Given the description of an element on the screen output the (x, y) to click on. 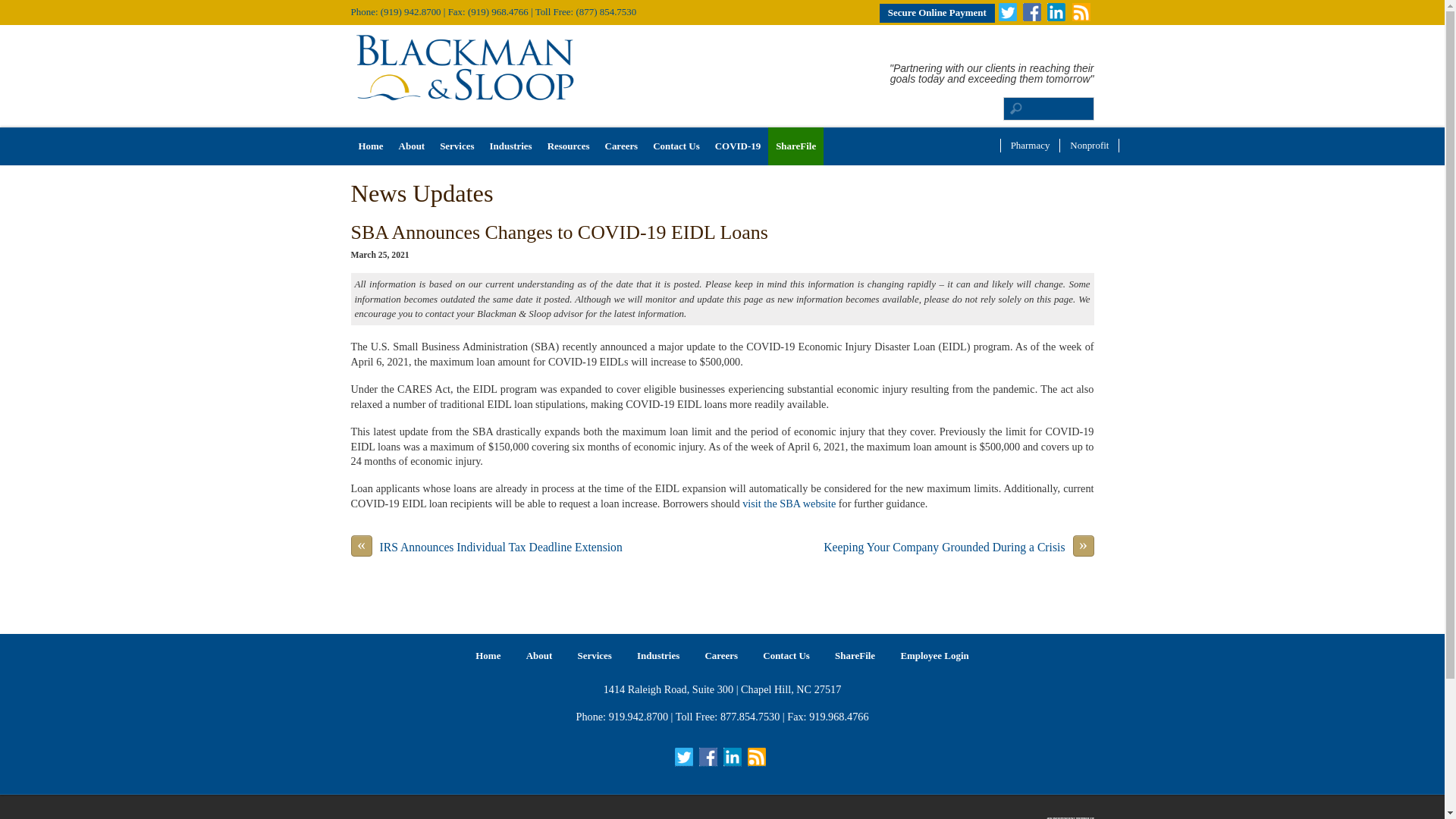
About (411, 146)
Secure Online Payment (936, 13)
Services (456, 146)
Resources (568, 146)
Secure Online Payment (936, 13)
Search (1048, 108)
Careers (621, 146)
Industries (509, 146)
Home (370, 146)
